Given the description of an element on the screen output the (x, y) to click on. 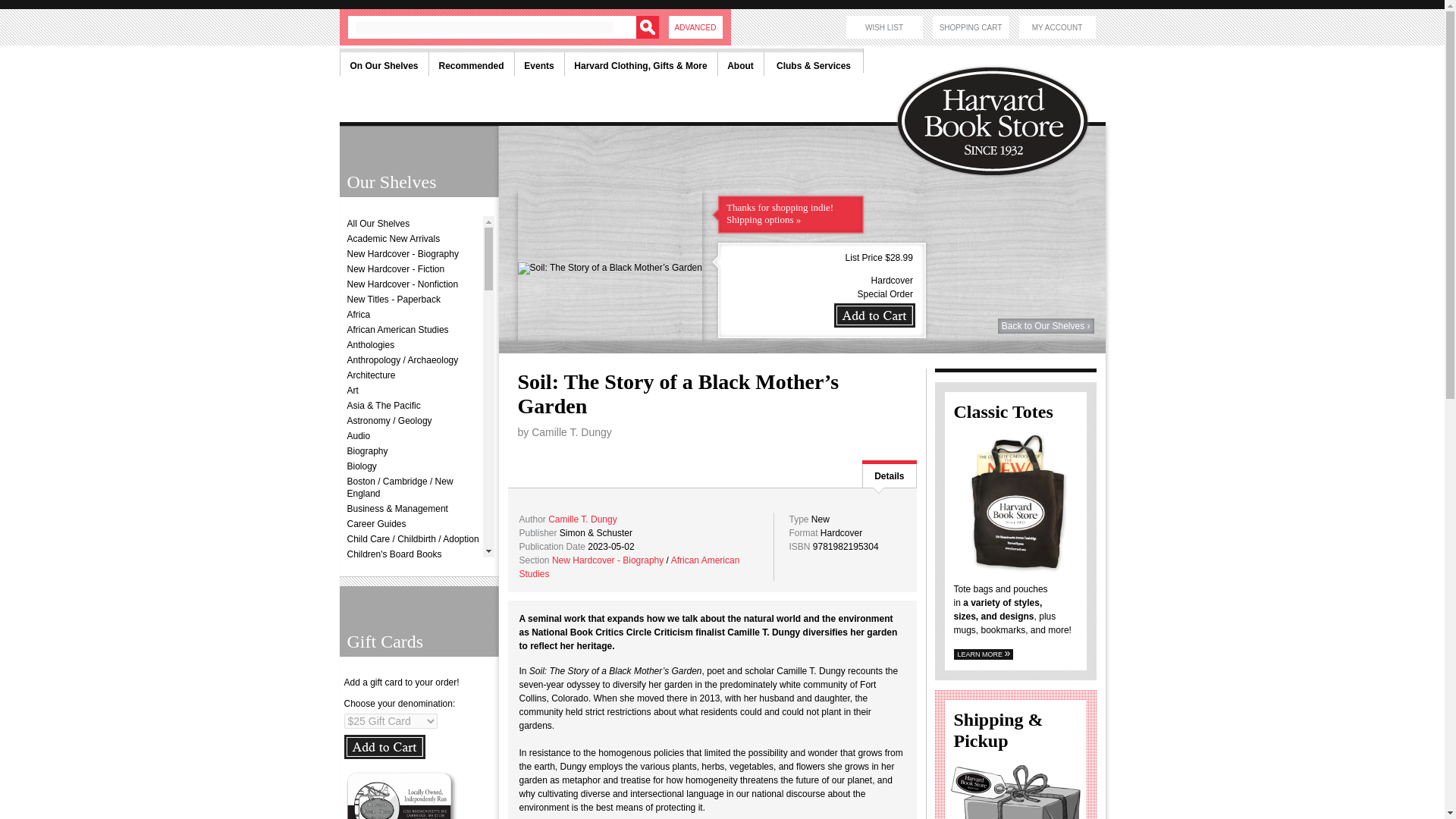
SHOPPING CART (971, 26)
About (739, 62)
Harvard Book Store (999, 83)
MY ACCOUNT (1057, 26)
On Our Shelves (383, 62)
Add to Cart (384, 746)
Recommended (470, 62)
WISH LIST (884, 26)
Events (538, 62)
ADVANCED (695, 26)
